Given the description of an element on the screen output the (x, y) to click on. 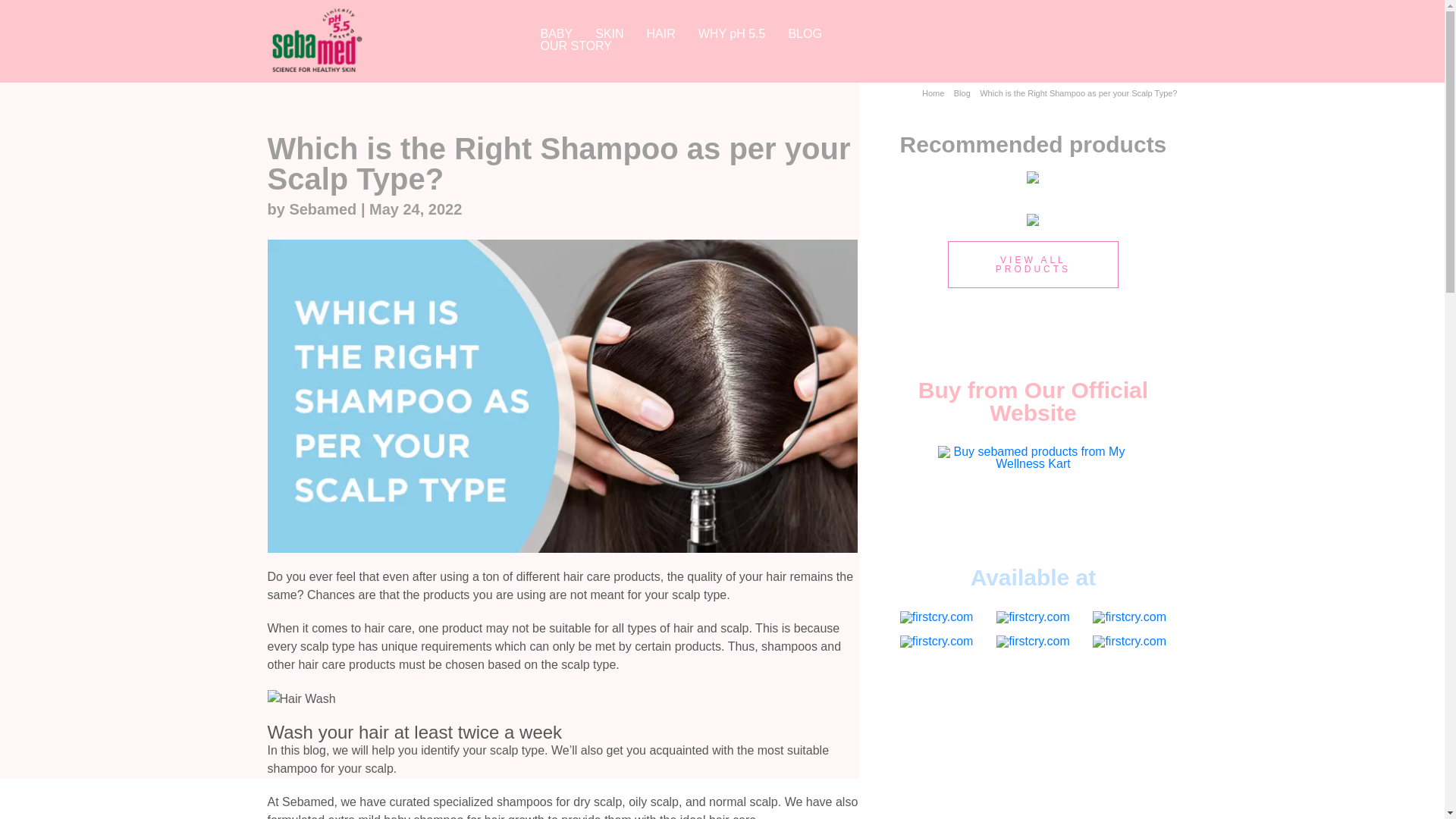
HAIR (661, 33)
BABY (556, 33)
SKIN (609, 33)
